Given the description of an element on the screen output the (x, y) to click on. 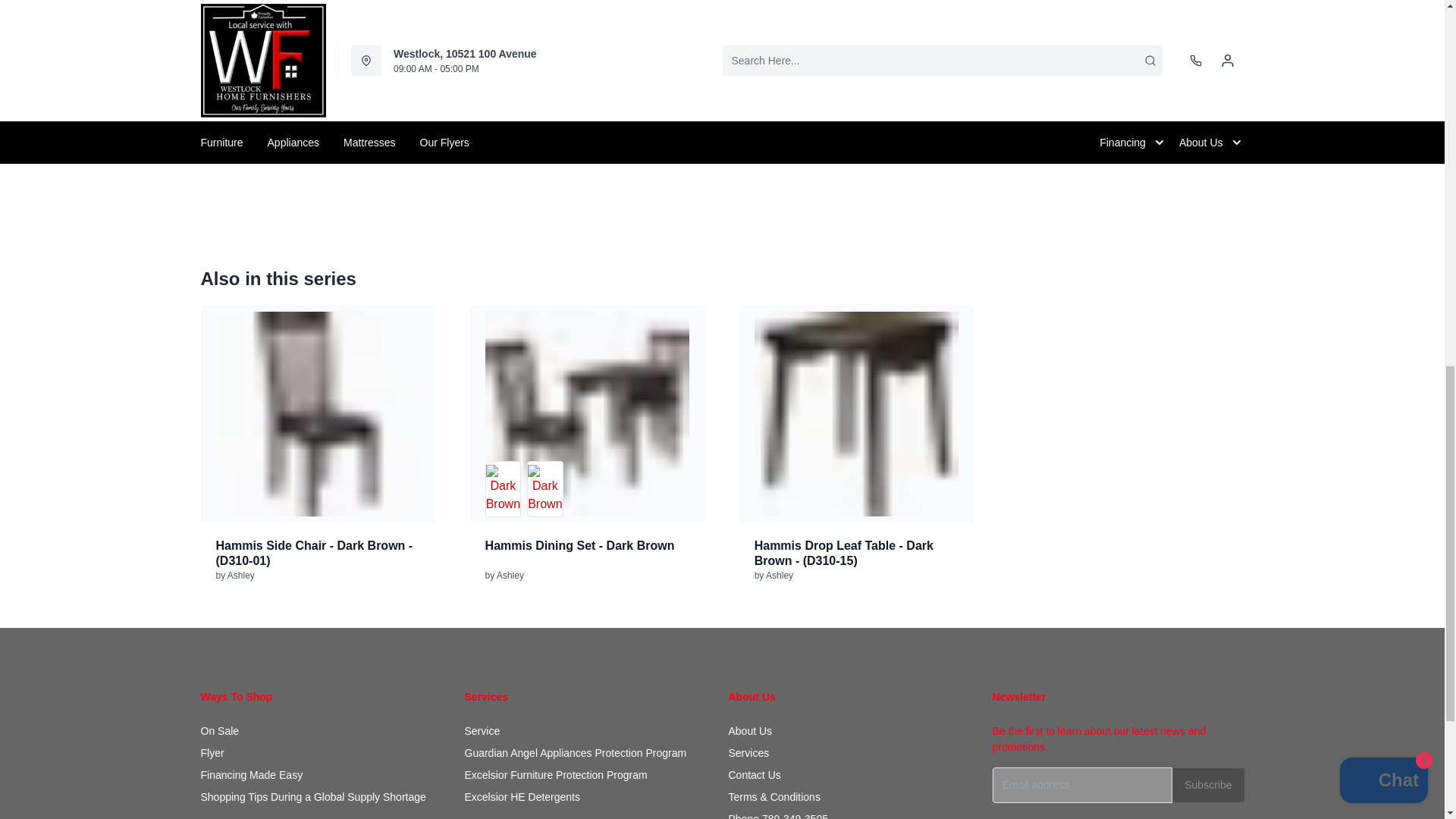
Hammis Dining Set - Dark Brown (587, 413)
